Given the description of an element on the screen output the (x, y) to click on. 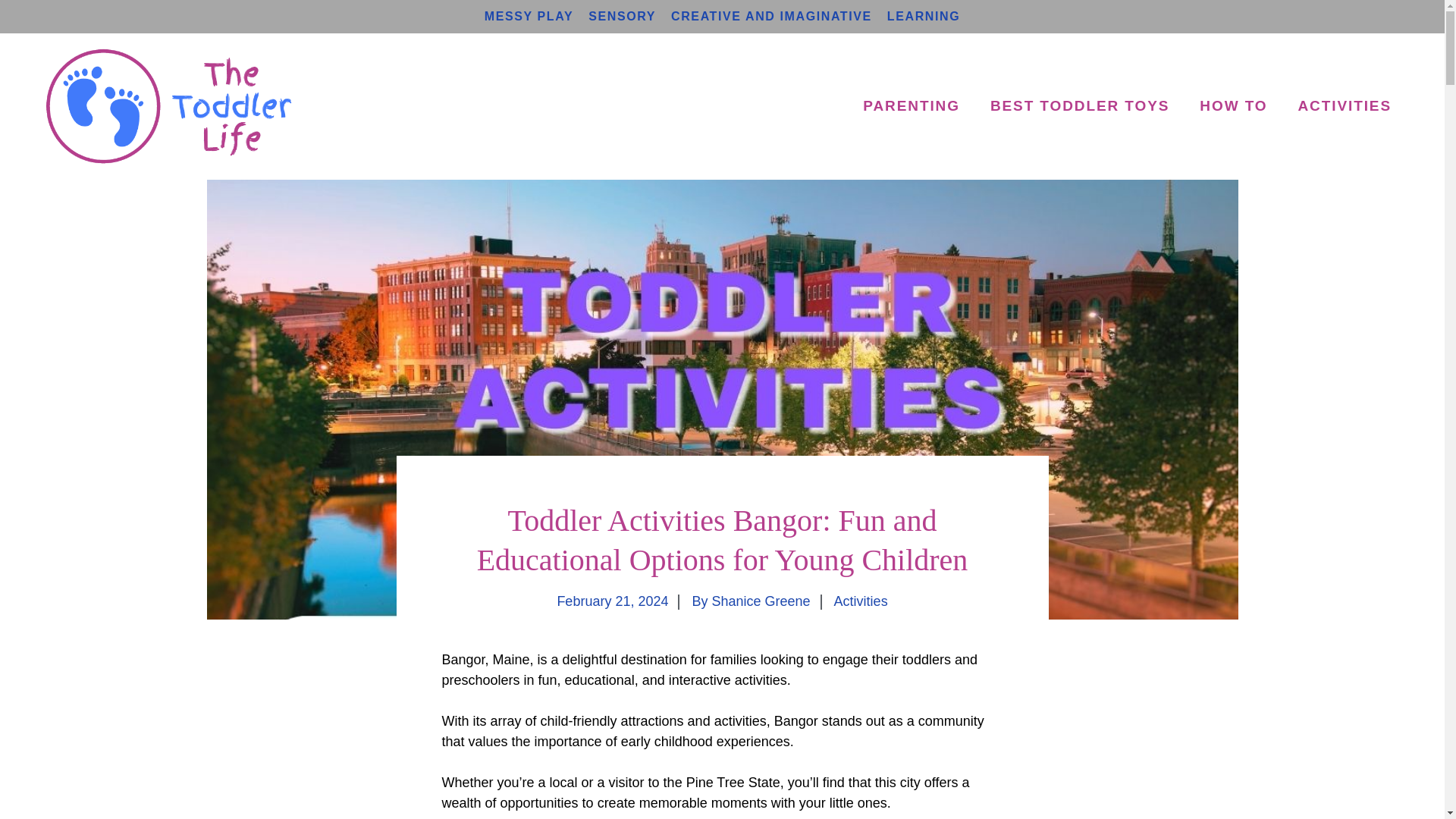
LEARNING (922, 15)
SENSORY (622, 15)
Activities (861, 601)
Shanice Greene (760, 601)
MESSY PLAY (528, 15)
BEST TODDLER TOYS (1080, 105)
CREATIVE AND IMAGINATIVE (771, 15)
ACTIVITIES (1344, 105)
HOW TO (1233, 105)
PARENTING (911, 105)
